Given the description of an element on the screen output the (x, y) to click on. 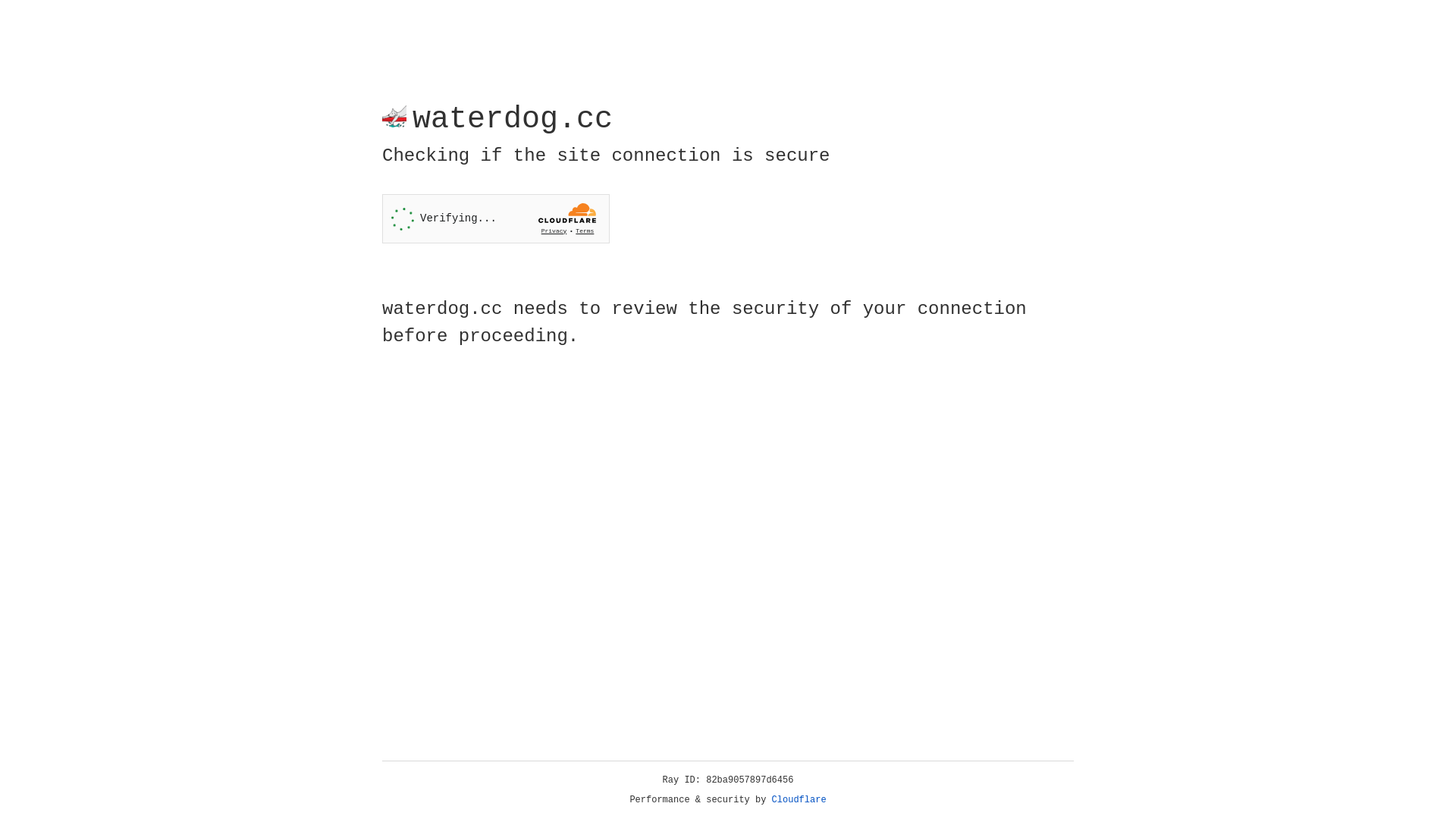
Widget containing a Cloudflare security challenge Element type: hover (495, 218)
Cloudflare Element type: text (798, 799)
